Given the description of an element on the screen output the (x, y) to click on. 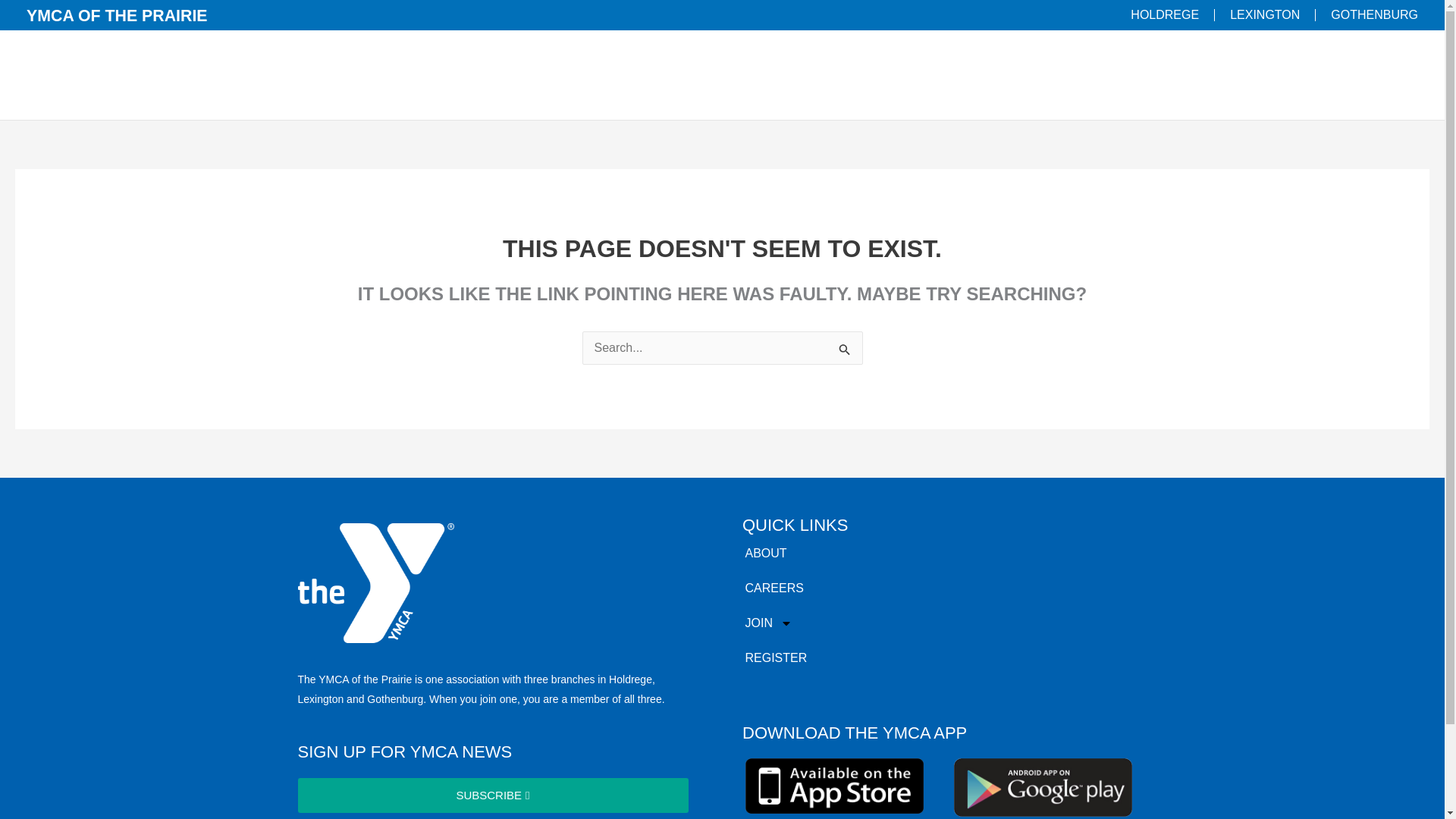
Main Menu (1399, 75)
CAREERS (775, 588)
JOIN (775, 623)
REGISTER (775, 657)
SUBSCRIBE (492, 795)
LEXINGTON (1265, 14)
GOTHENBURG (1374, 14)
HOLDREGE (1164, 14)
ABOUT (775, 553)
